Given the description of an element on the screen output the (x, y) to click on. 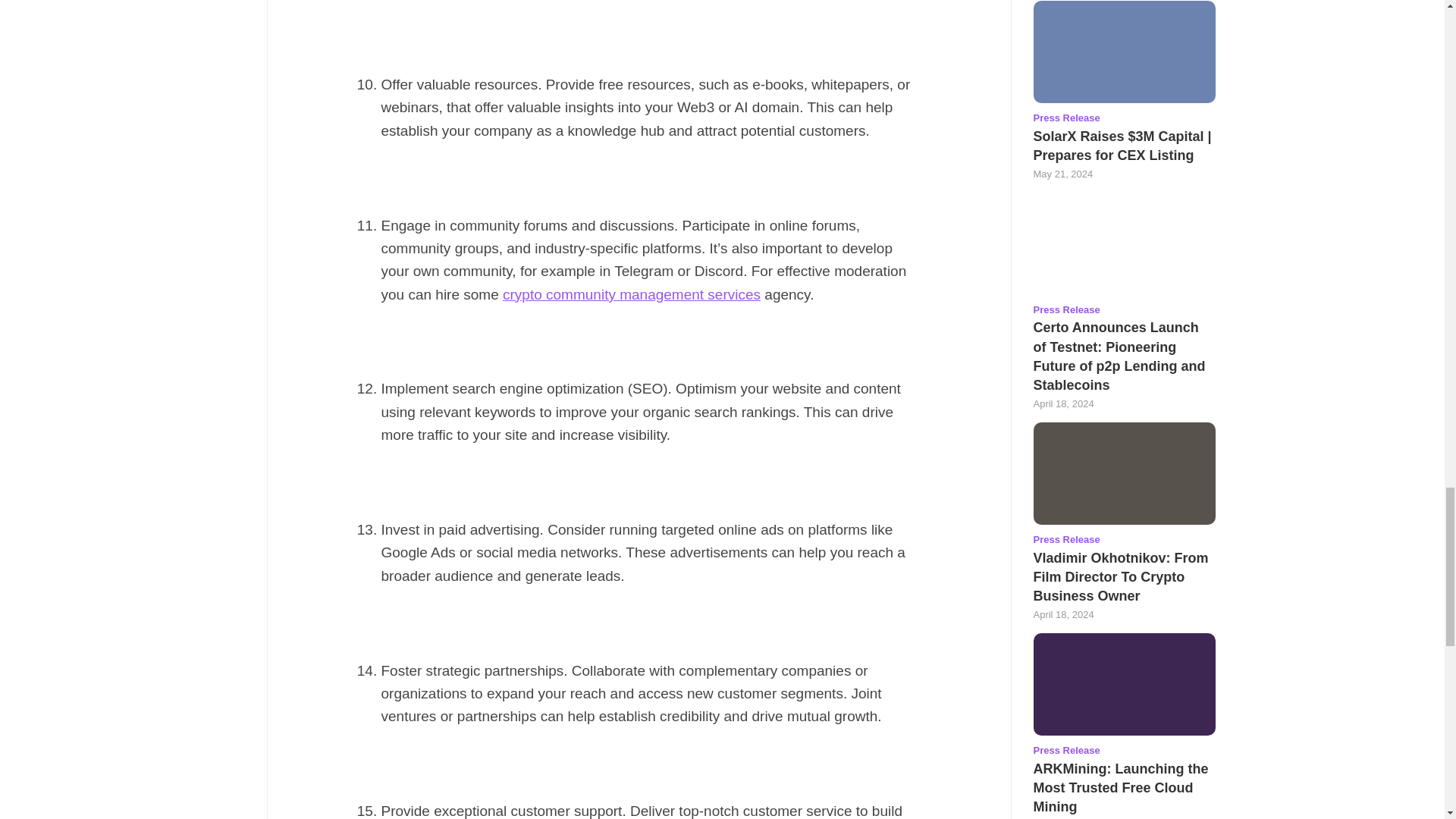
crypto community management services (631, 294)
